Given the description of an element on the screen output the (x, y) to click on. 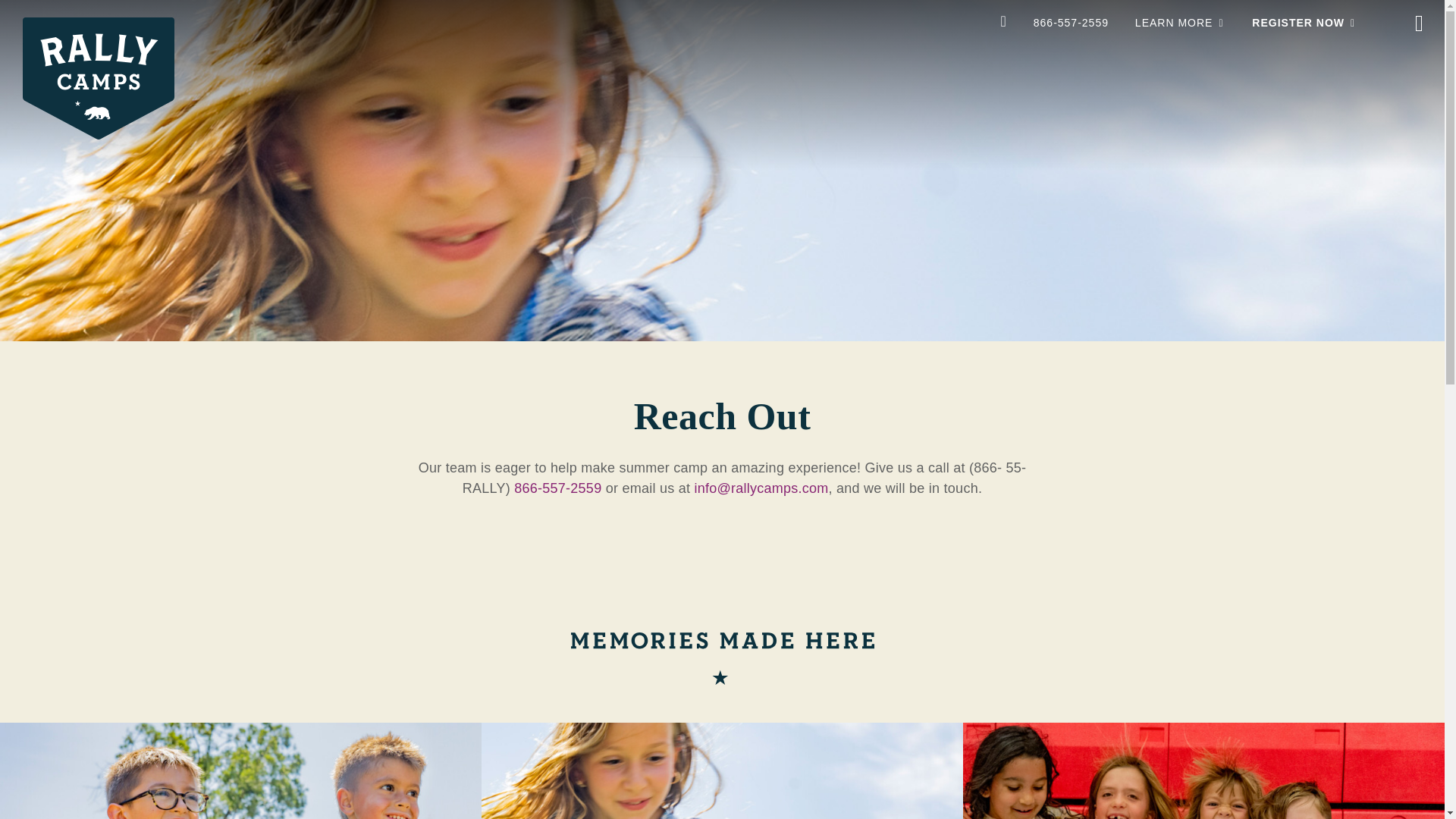
866-557-2559 (1070, 22)
REGISTER NOW (1297, 22)
LEARN MORE (1173, 22)
Register Now (1179, 20)
866-557-2559 (1297, 22)
866-557-2559 (557, 488)
Learn More (1070, 22)
